Given the description of an element on the screen output the (x, y) to click on. 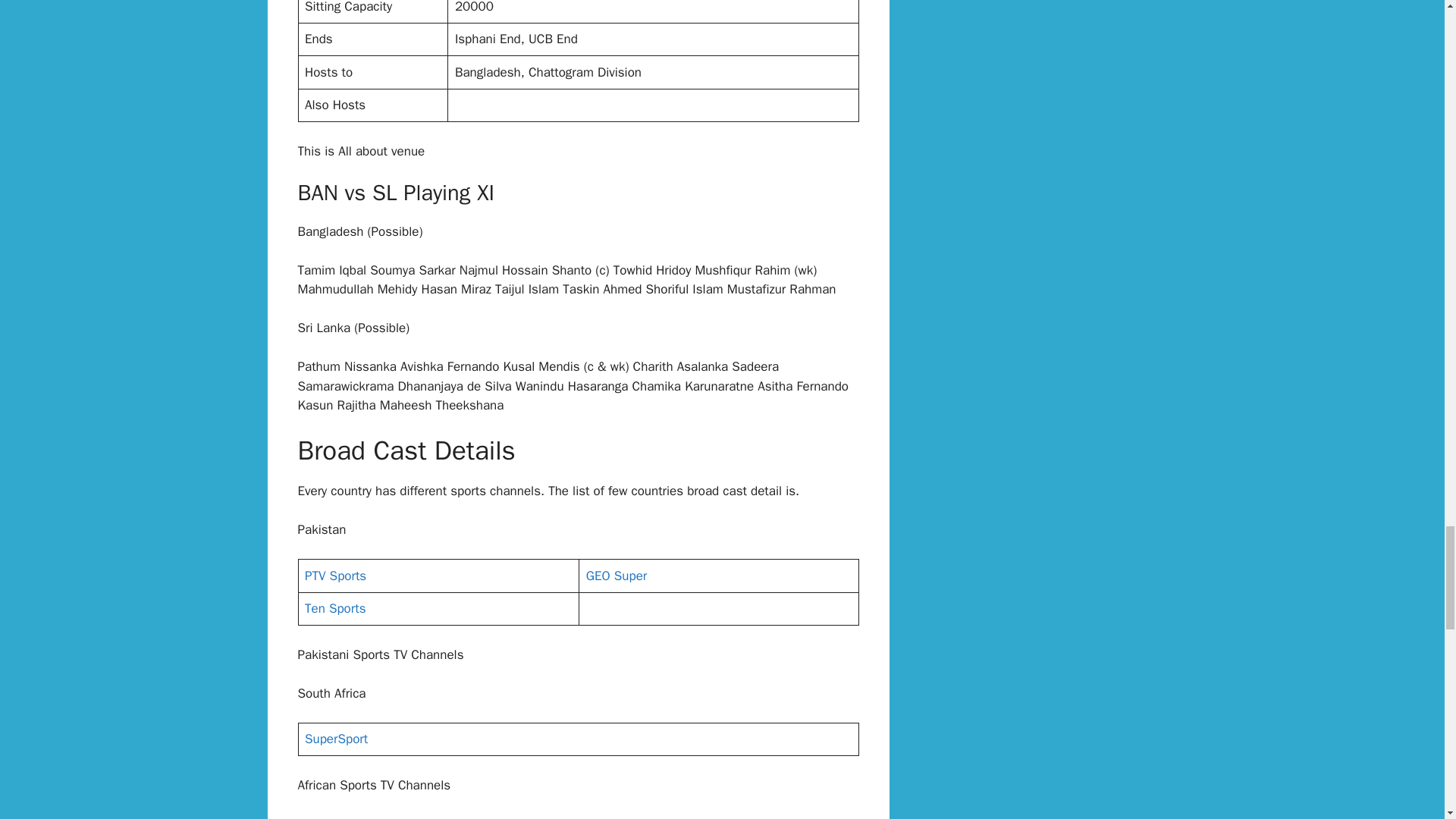
PTV Sports (335, 575)
Ten Sports (334, 608)
GEO Super (616, 575)
SuperSport (336, 738)
